Given the description of an element on the screen output the (x, y) to click on. 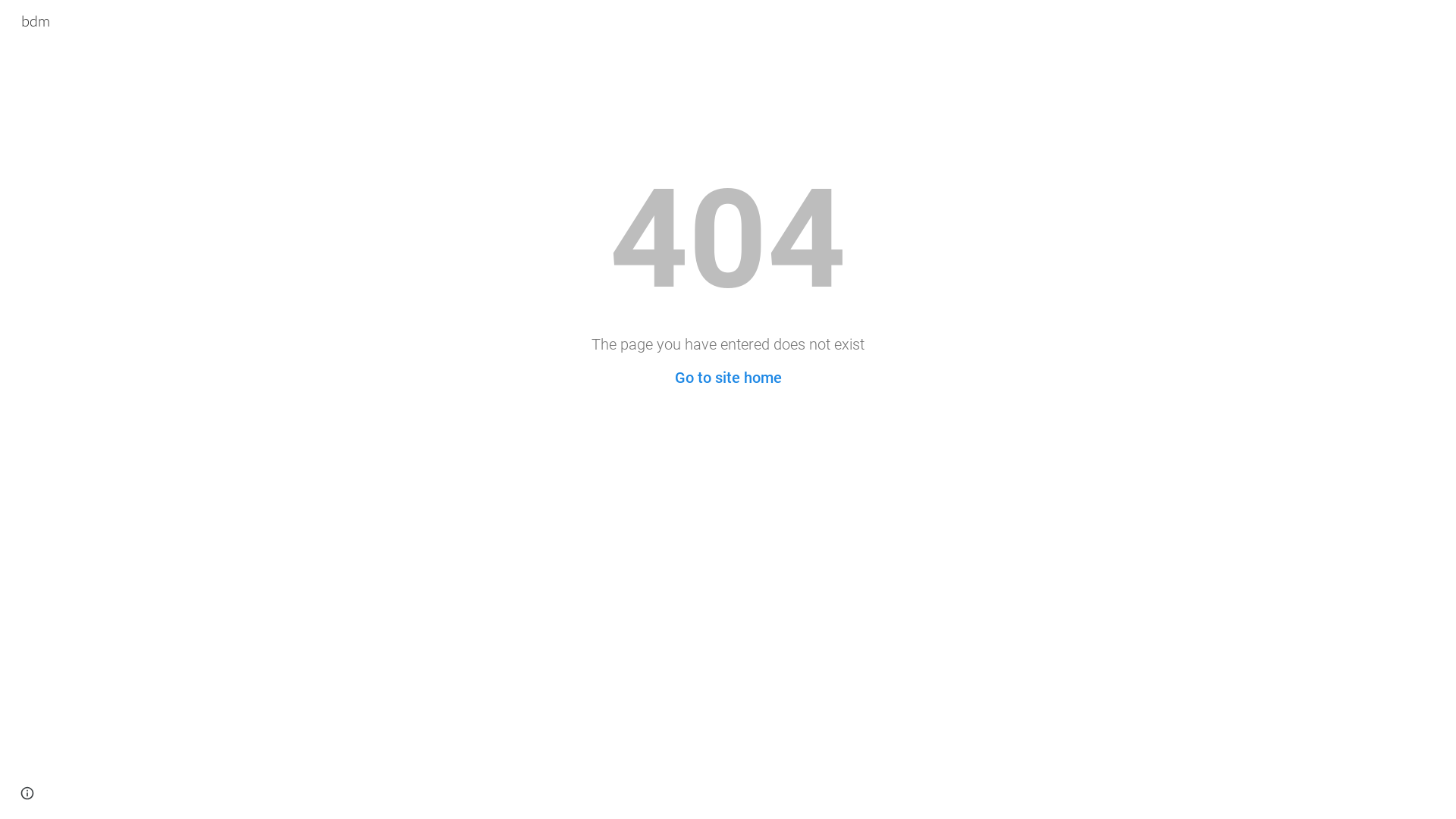
Go to site home Element type: text (727, 377)
bdm Element type: text (35, 18)
